Given the description of an element on the screen output the (x, y) to click on. 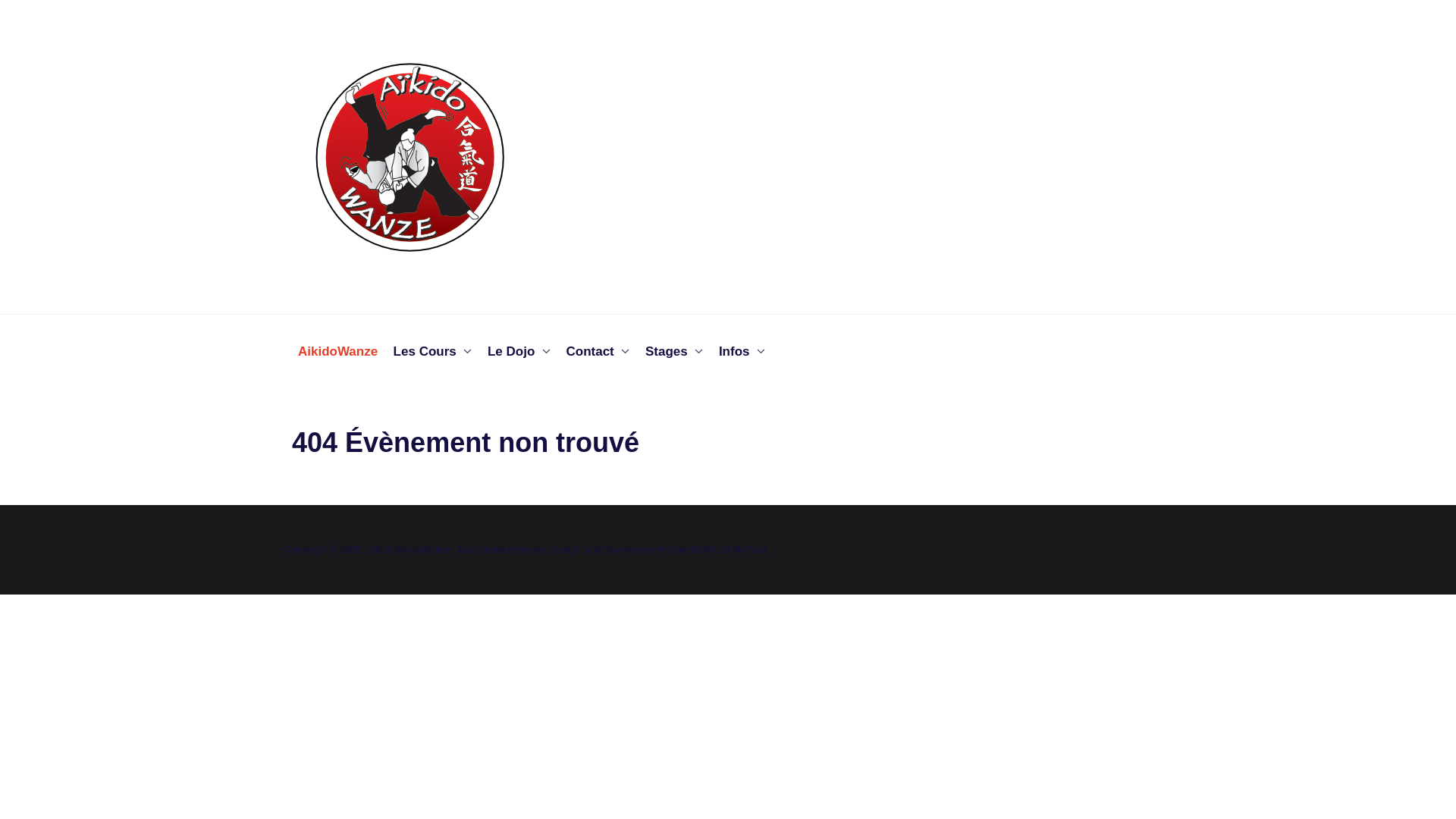
Les Cours Element type: text (432, 352)
AikidoWanze Element type: text (337, 352)
Stages Element type: text (673, 352)
Infos Element type: text (741, 352)
Contact Element type: text (597, 352)
Le Dojo Element type: text (518, 352)
